Given the description of an element on the screen output the (x, y) to click on. 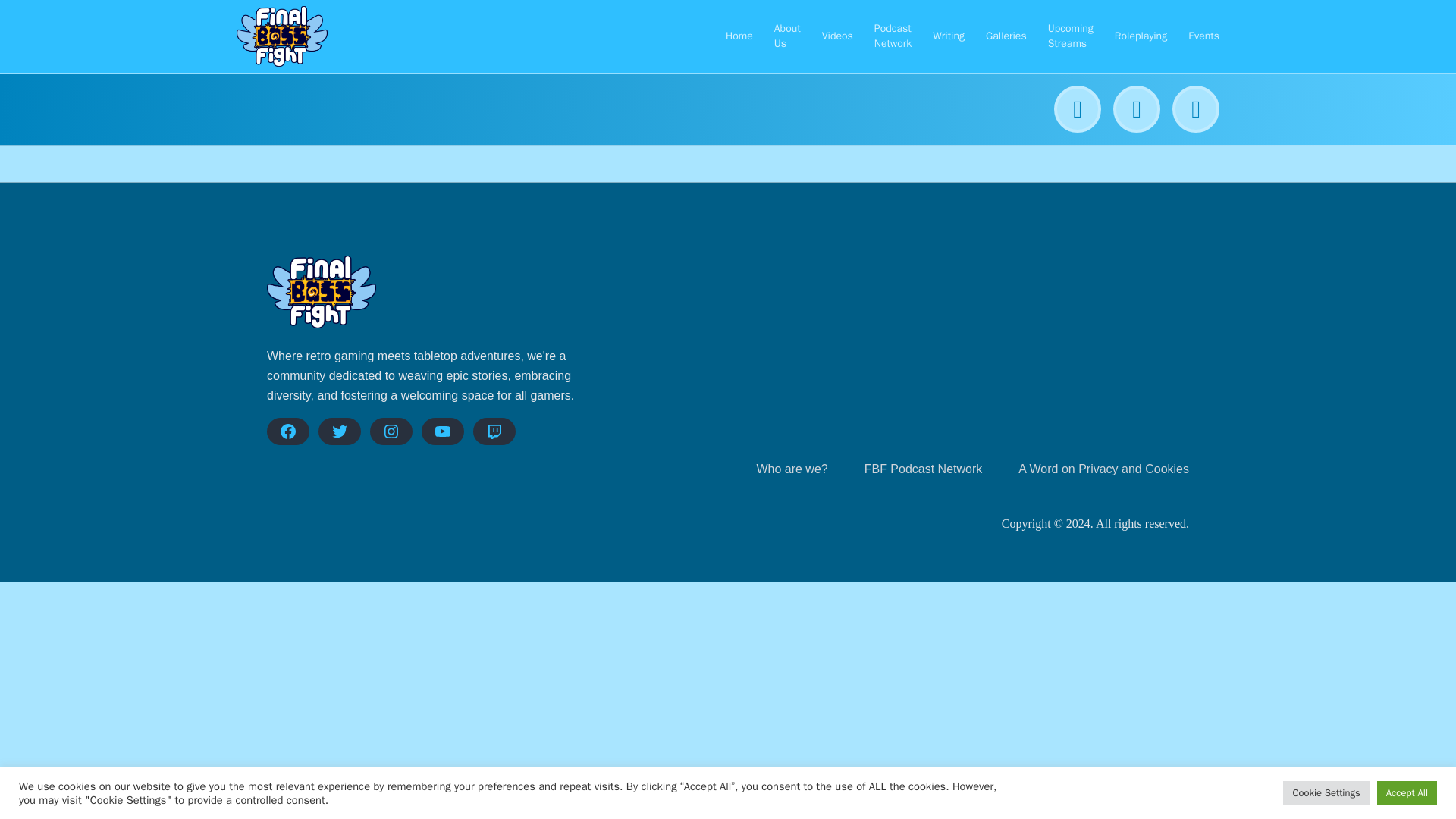
Twitch (494, 431)
Facebook (287, 431)
FBF Podcast Network (923, 468)
YouTube (443, 431)
Who are we? (791, 468)
Twitter (339, 431)
A Word on Privacy and Cookies (1103, 468)
Roleplaying (1141, 35)
Instagram (390, 431)
